Given the description of an element on the screen output the (x, y) to click on. 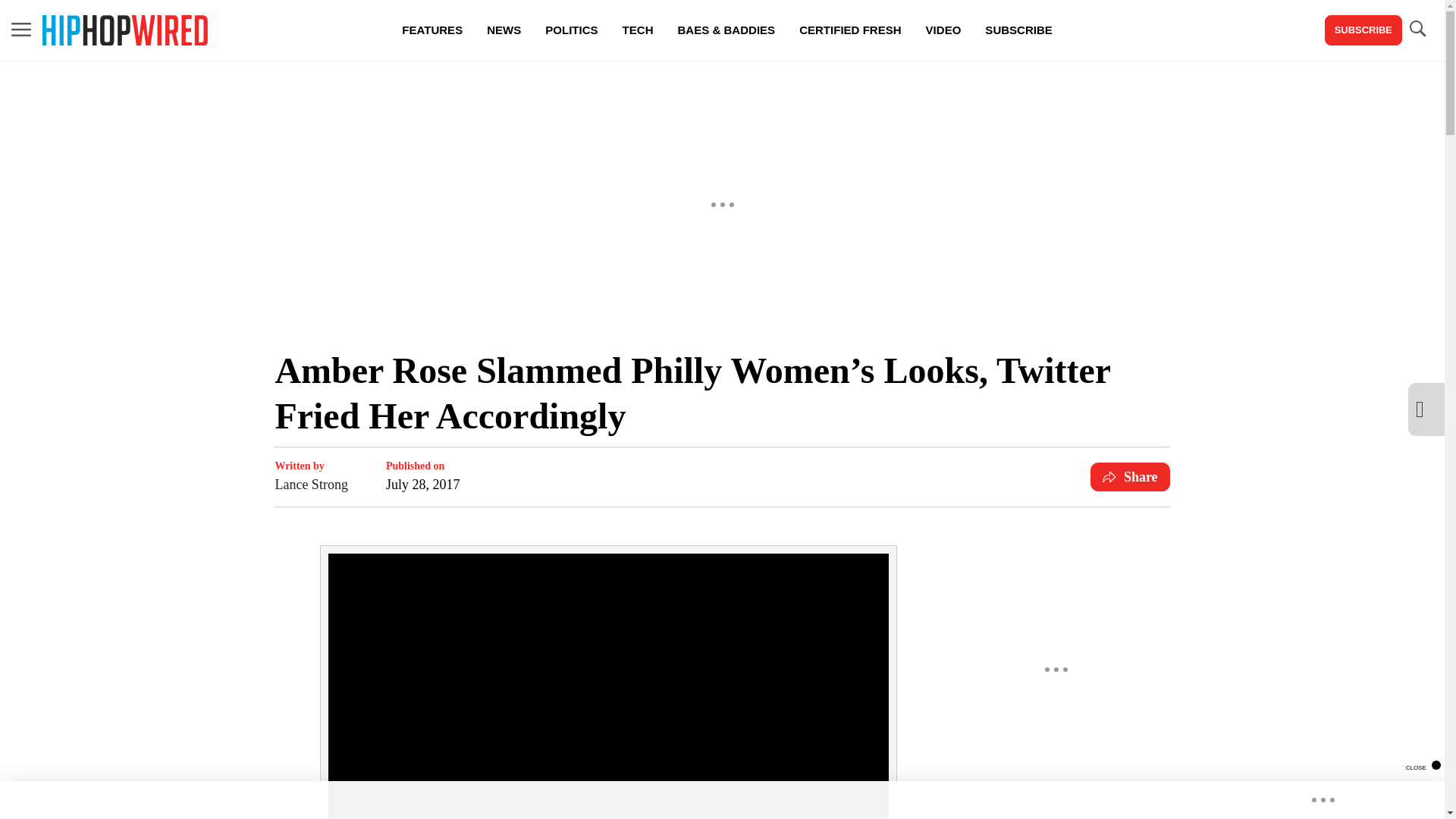
TOGGLE SEARCH (1417, 28)
FEATURES (432, 30)
VIDEO (944, 30)
Lance Strong (311, 484)
SUBSCRIBE (1018, 30)
MENU (20, 30)
SUBSCRIBE (1363, 30)
CERTIFIED FRESH (849, 30)
NEWS (503, 30)
TECH (637, 30)
MENU (20, 29)
TOGGLE SEARCH (1417, 30)
POLITICS (571, 30)
Share (1130, 476)
